Given the description of an element on the screen output the (x, y) to click on. 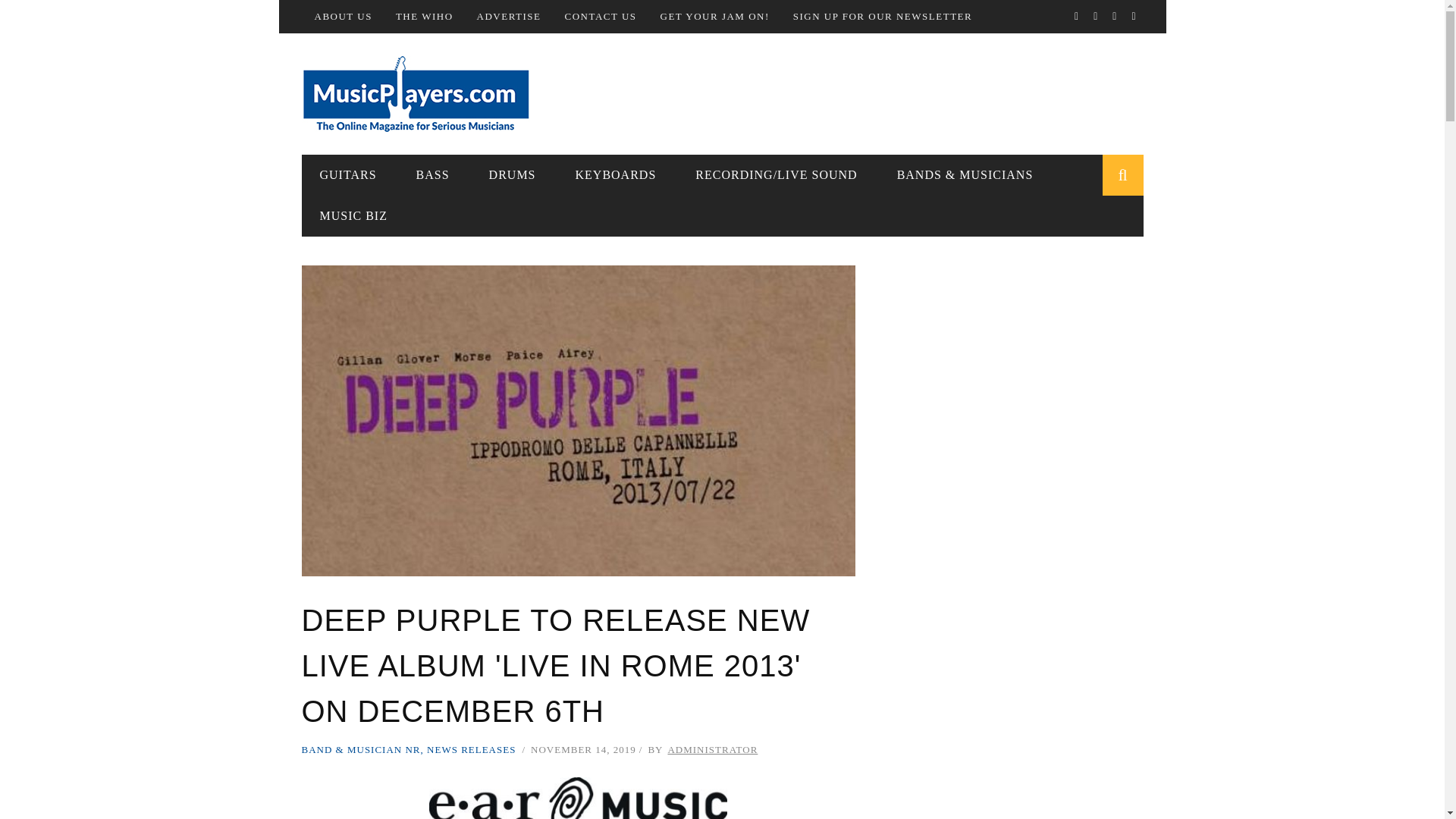
Posts by Administrator (711, 749)
